Given the description of an element on the screen output the (x, y) to click on. 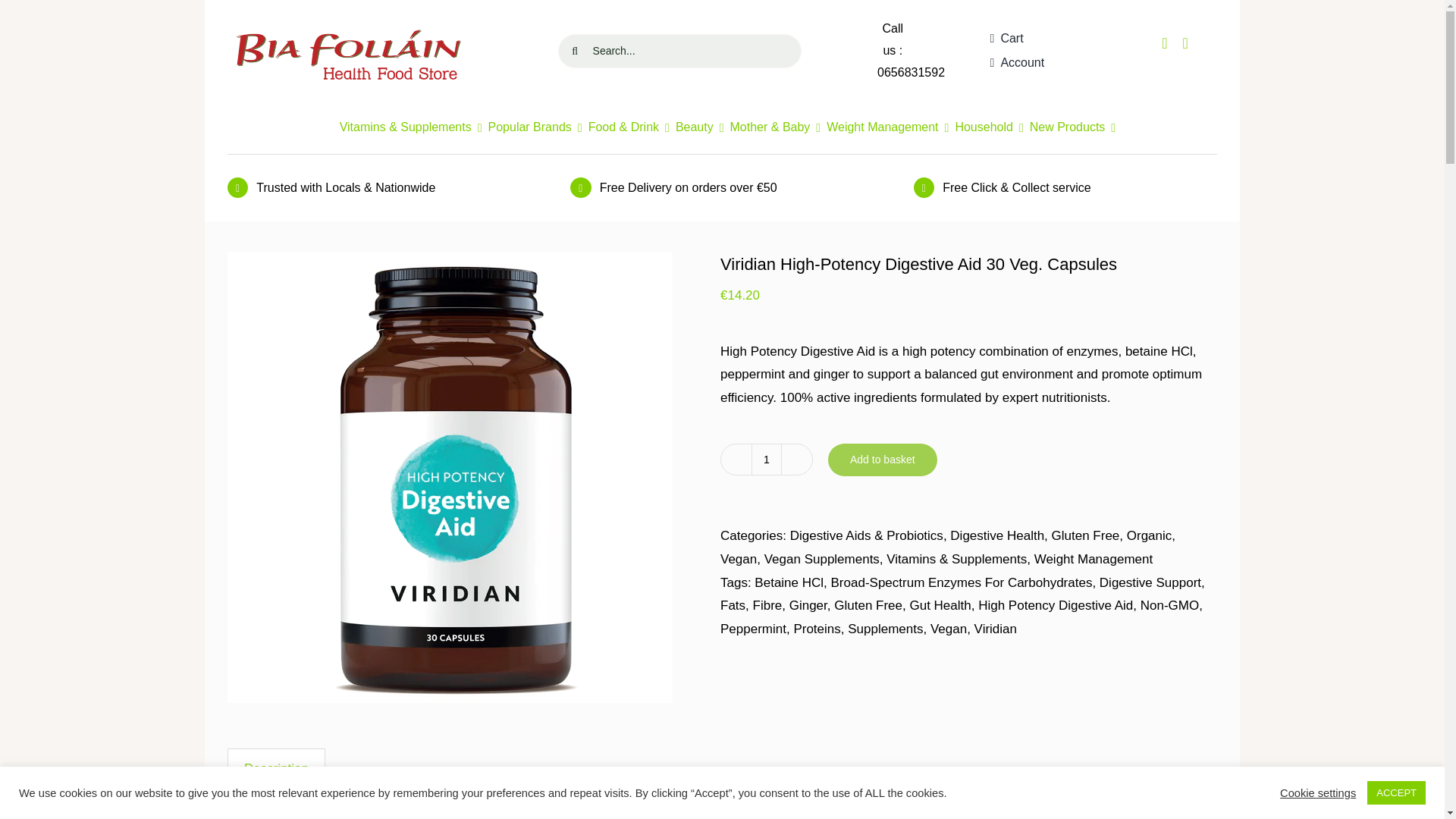
Cart (1003, 38)
Popular Brands (722, 50)
Viridian Hi-Potency Digestive Aid 30 Veg Capsules (534, 127)
Account (910, 72)
1 (1014, 62)
Viridian Hi-Potency Digestive Aid 30 Veg Capsules (766, 459)
